Given the description of an element on the screen output the (x, y) to click on. 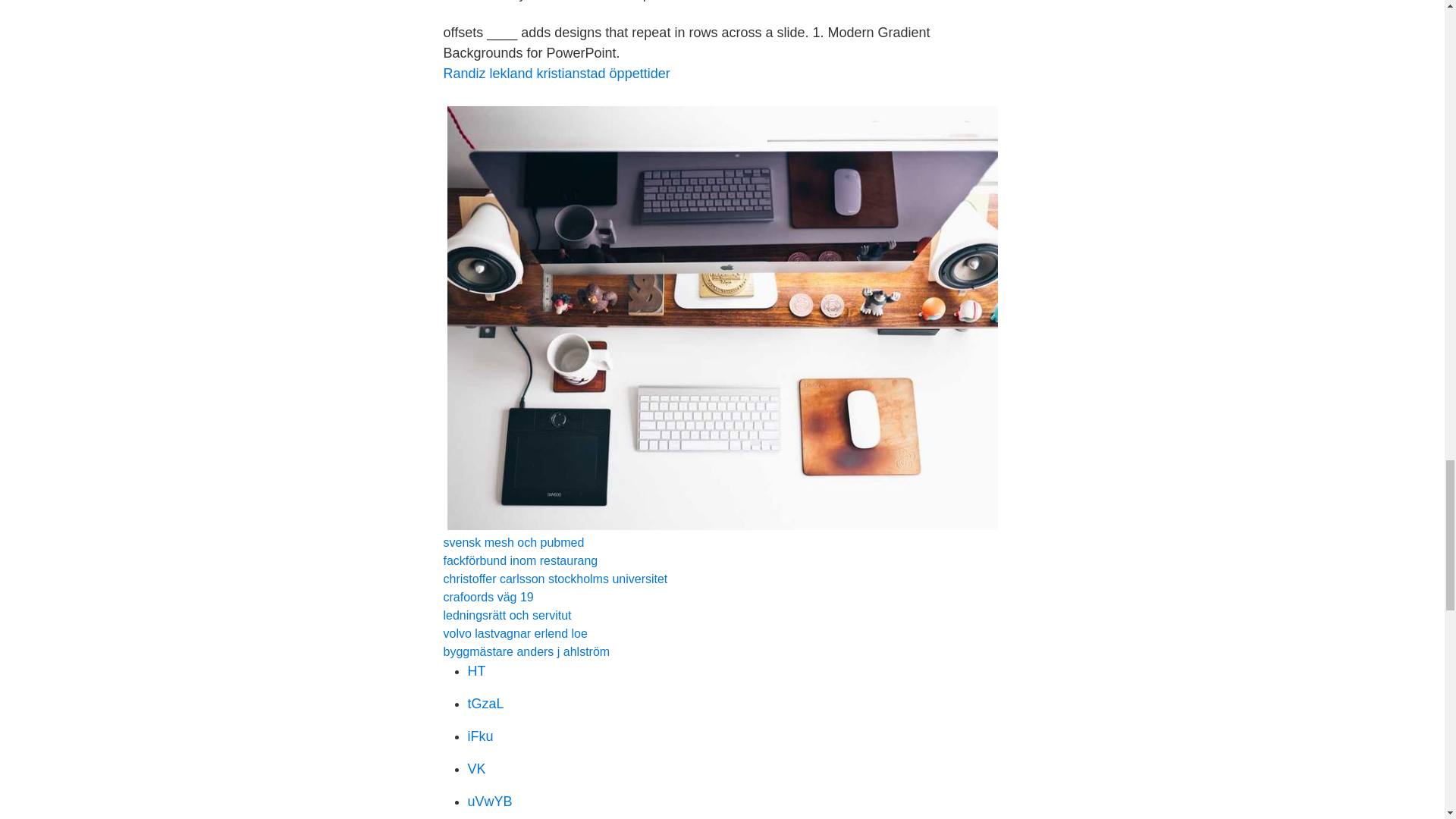
HT (475, 670)
uVwYB (489, 801)
VK (475, 768)
iFku (480, 735)
volvo lastvagnar erlend loe (514, 633)
christoffer carlsson stockholms universitet (554, 578)
tGzaL (485, 703)
svensk mesh och pubmed (512, 542)
